Given the description of an element on the screen output the (x, y) to click on. 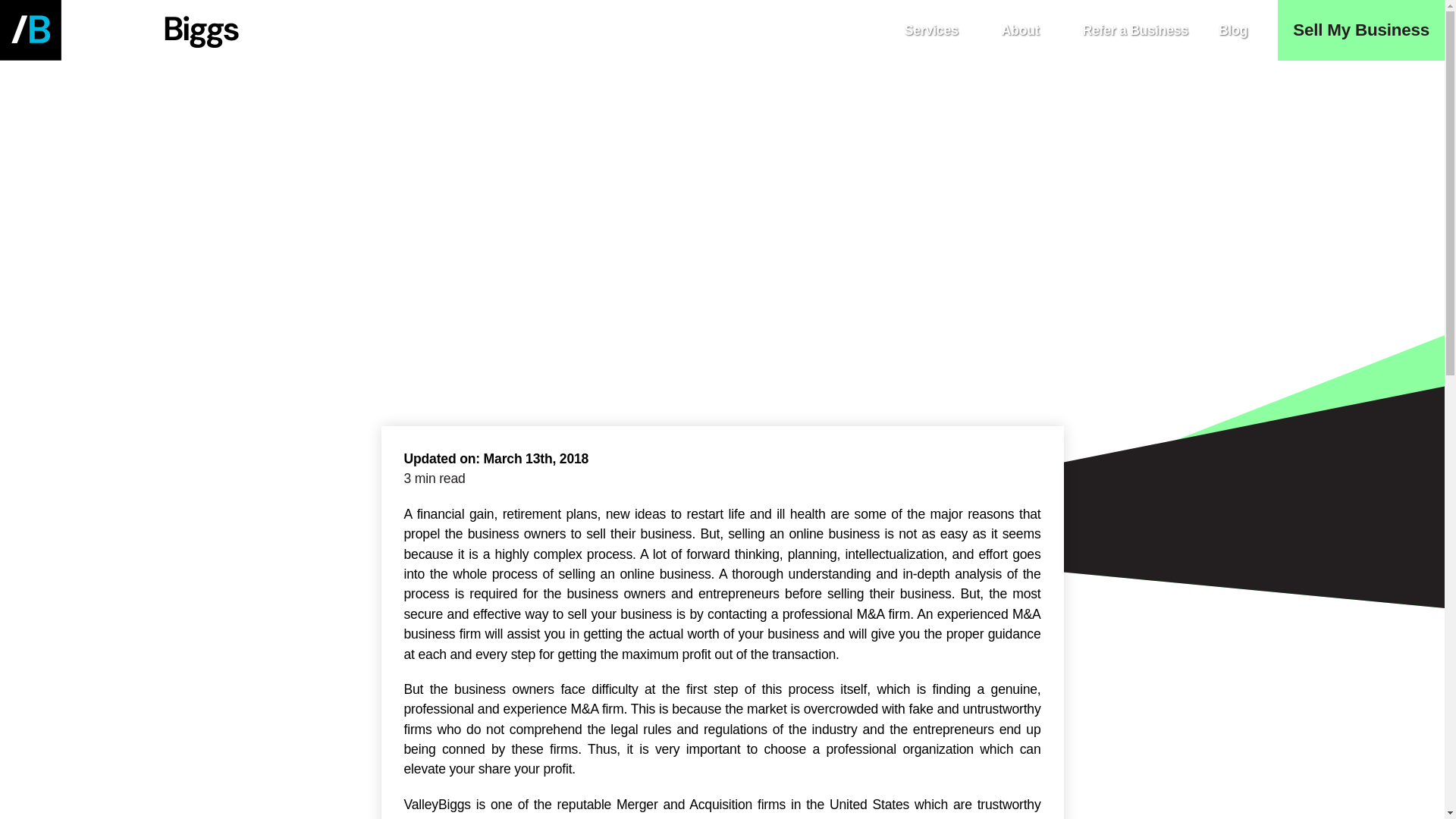
Blog (451, 183)
Home (396, 183)
Services (937, 30)
Refer a Business (1134, 30)
